Given the description of an element on the screen output the (x, y) to click on. 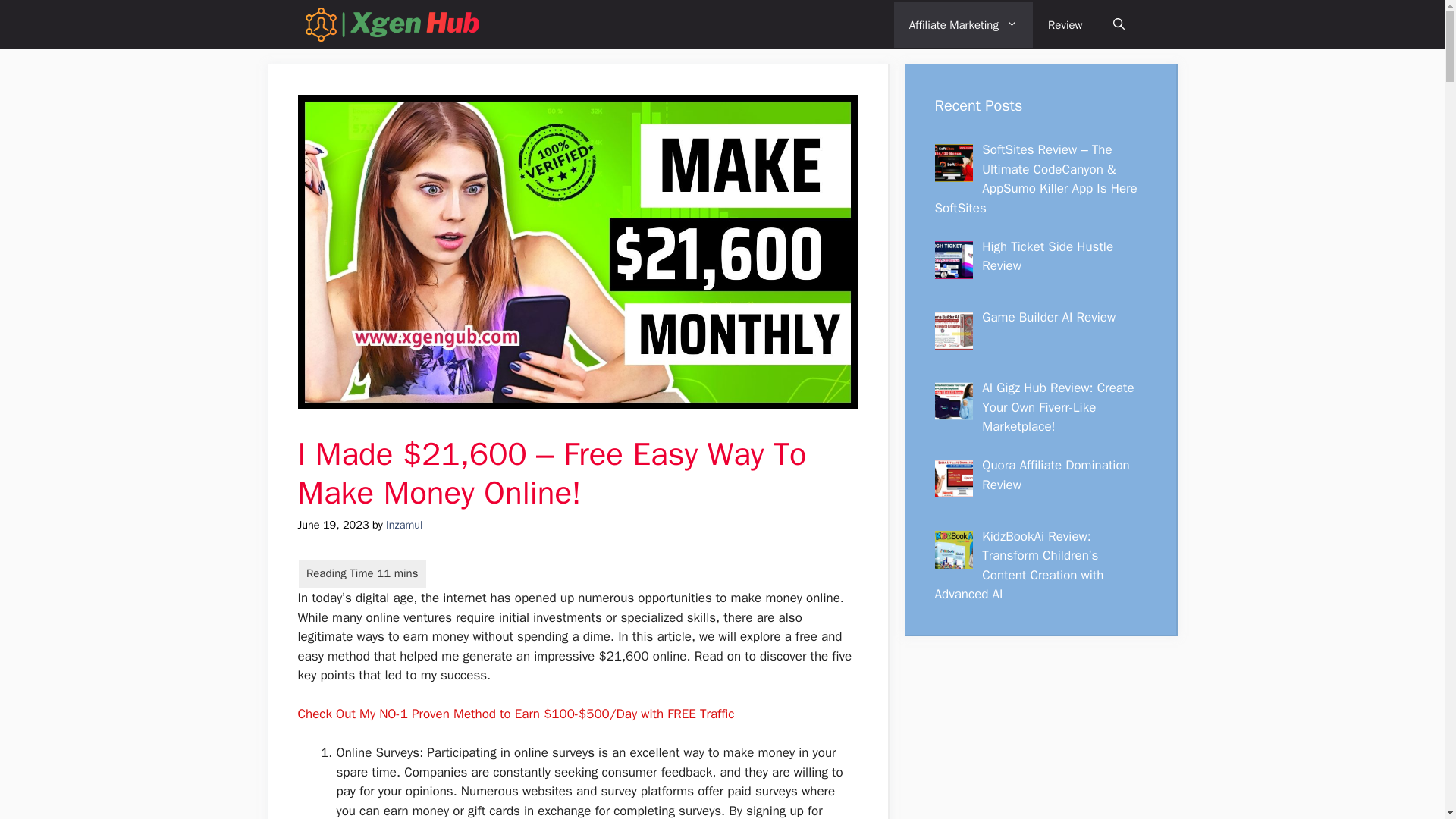
Review (1064, 23)
Affiliate Marketing (962, 23)
Xgen Hub (391, 24)
Inzamul (403, 524)
View all posts by Inzamul (403, 524)
